Given the description of an element on the screen output the (x, y) to click on. 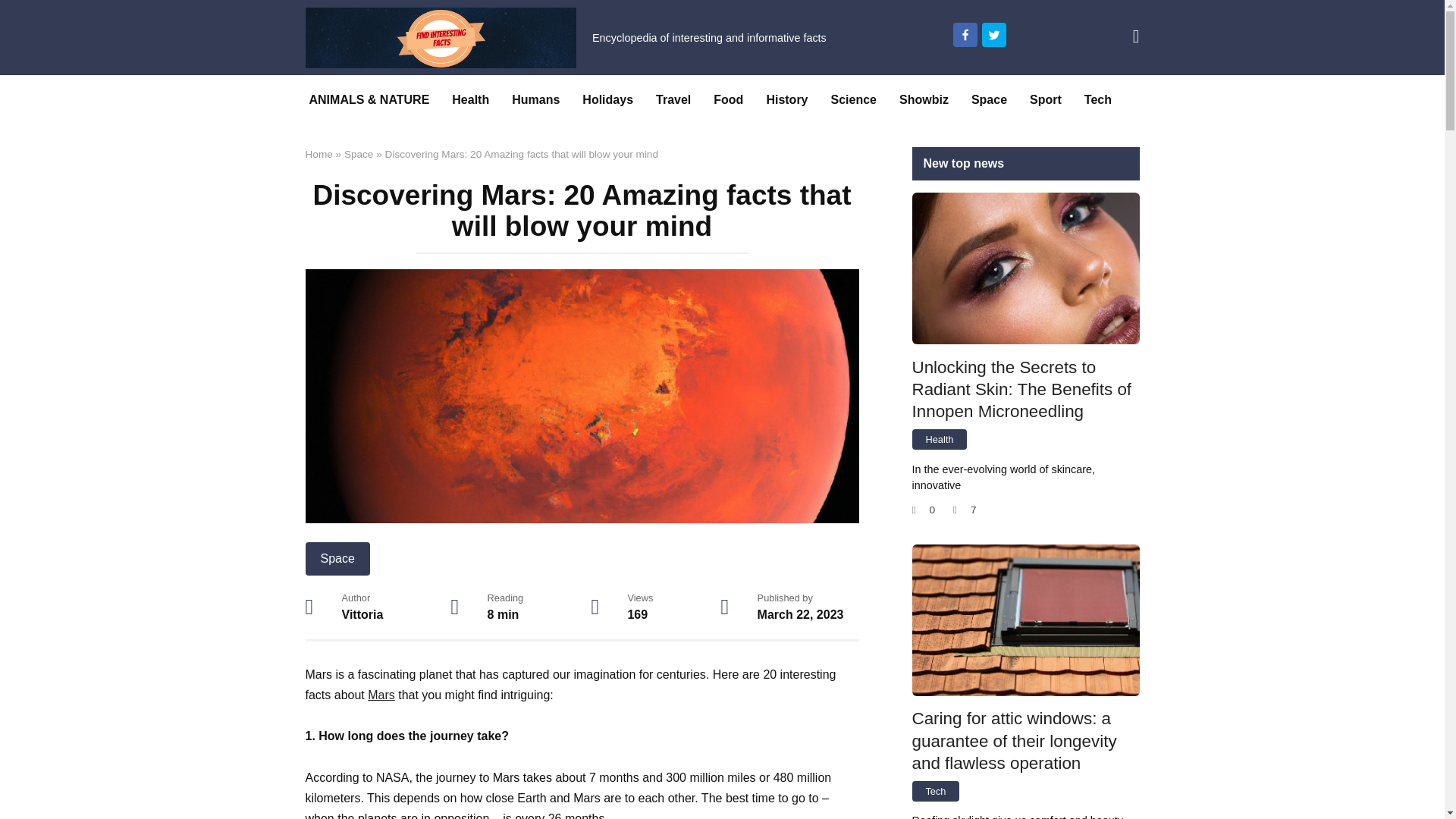
Tech (1097, 100)
Travel (673, 100)
Food (727, 100)
Space (336, 558)
History (786, 100)
Showbiz (923, 100)
Space (988, 100)
Mars (381, 694)
Health (470, 100)
Humans (535, 100)
